Given the description of an element on the screen output the (x, y) to click on. 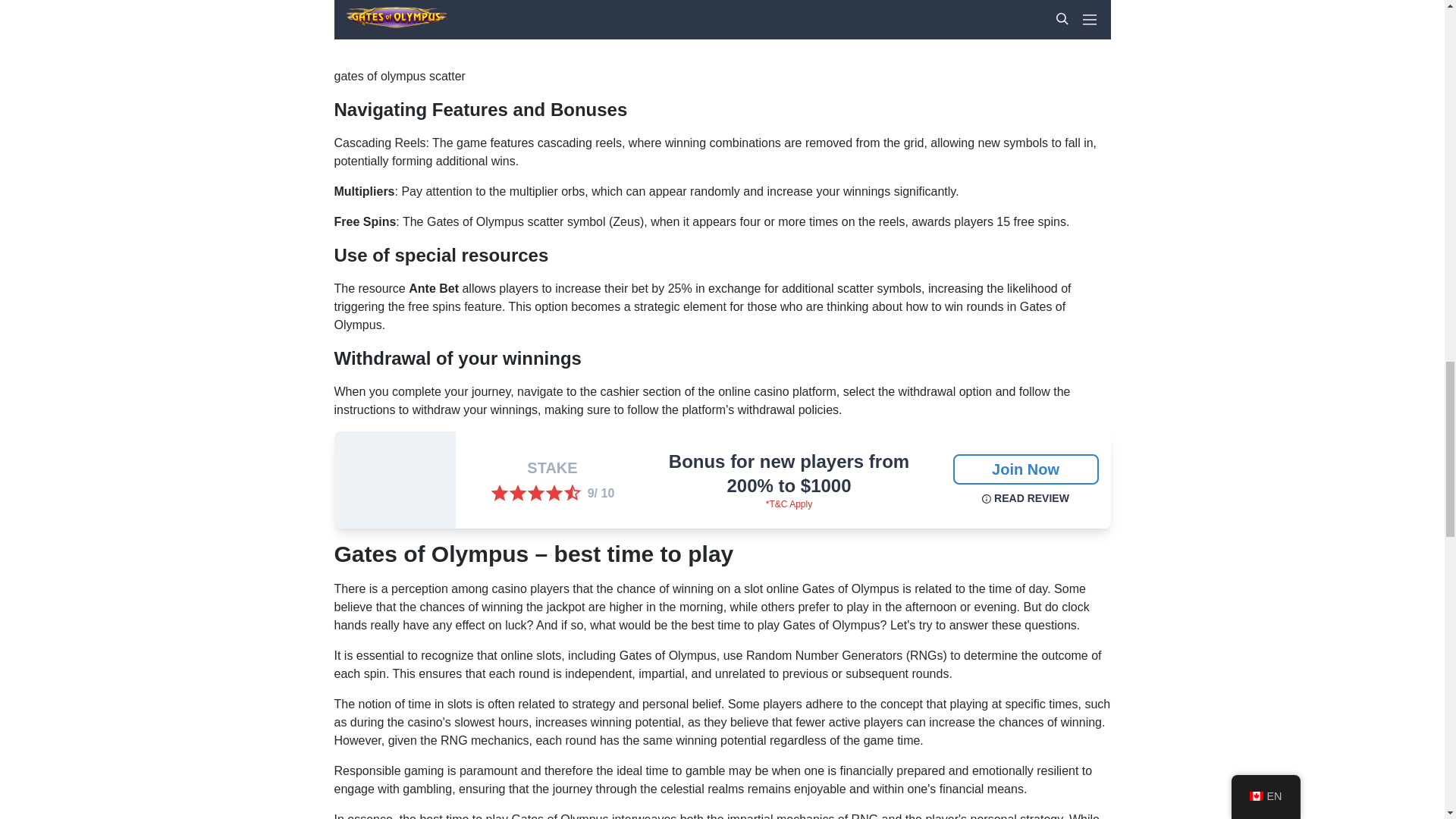
Join Now (1024, 469)
full star (499, 493)
READ REVIEW (1024, 498)
full star (517, 493)
half empty star (571, 493)
full star (535, 493)
full star (553, 493)
